Given the description of an element on the screen output the (x, y) to click on. 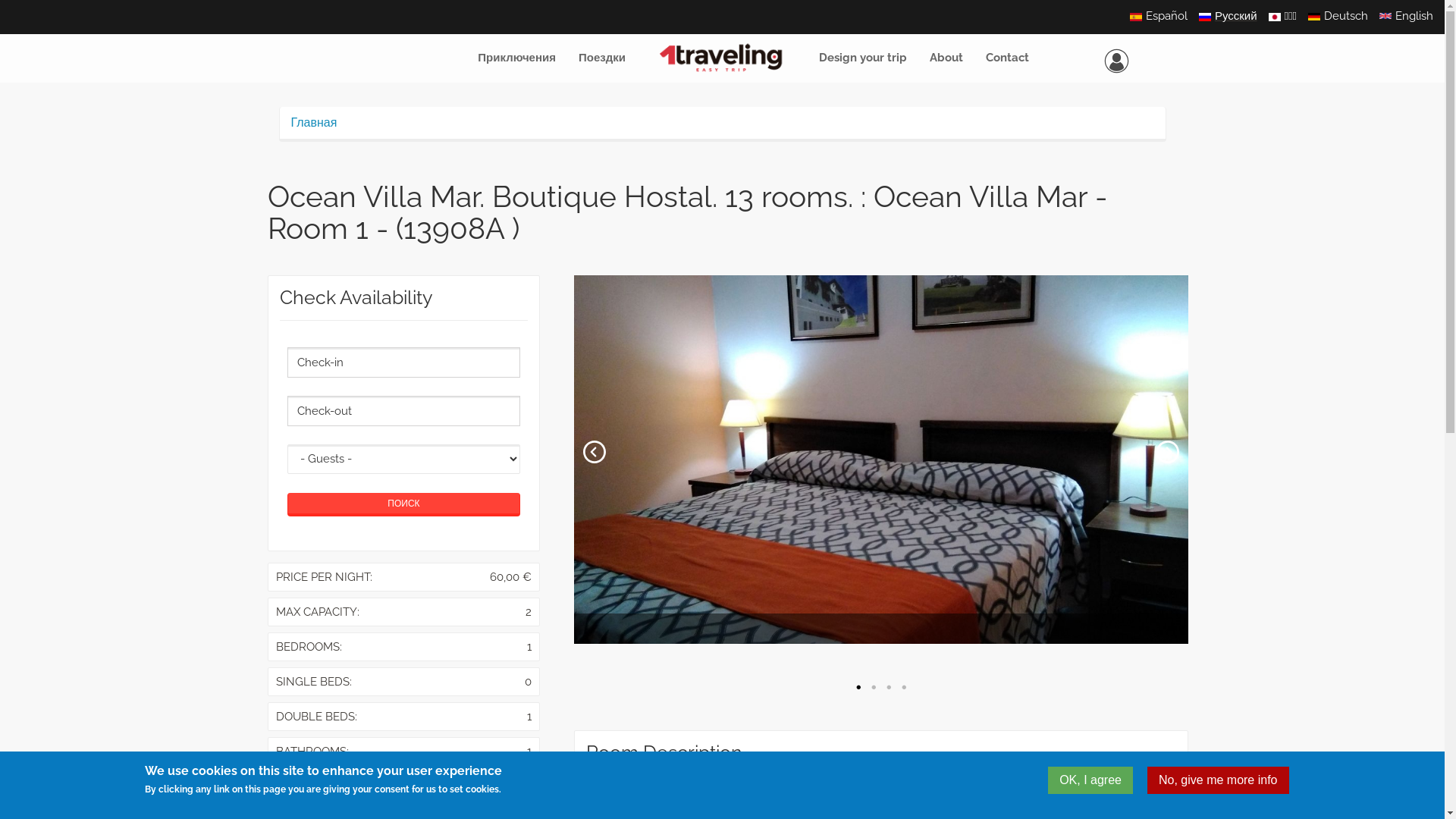
Next Element type: text (1167, 451)
No, give me more info Element type: text (1218, 779)
English Element type: hover (1385, 15)
4 Element type: text (903, 687)
Deutsch Element type: hover (1314, 16)
1 Element type: text (858, 687)
OK, I agree Element type: text (1090, 779)
Previous Element type: text (594, 451)
Contact Element type: text (1007, 57)
3 Element type: text (888, 687)
2 Element type: text (873, 687)
Deutsch Element type: text (1346, 15)
English Element type: text (1414, 15)
Design your trip Element type: text (862, 57)
About Element type: text (946, 57)
